Given the description of an element on the screen output the (x, y) to click on. 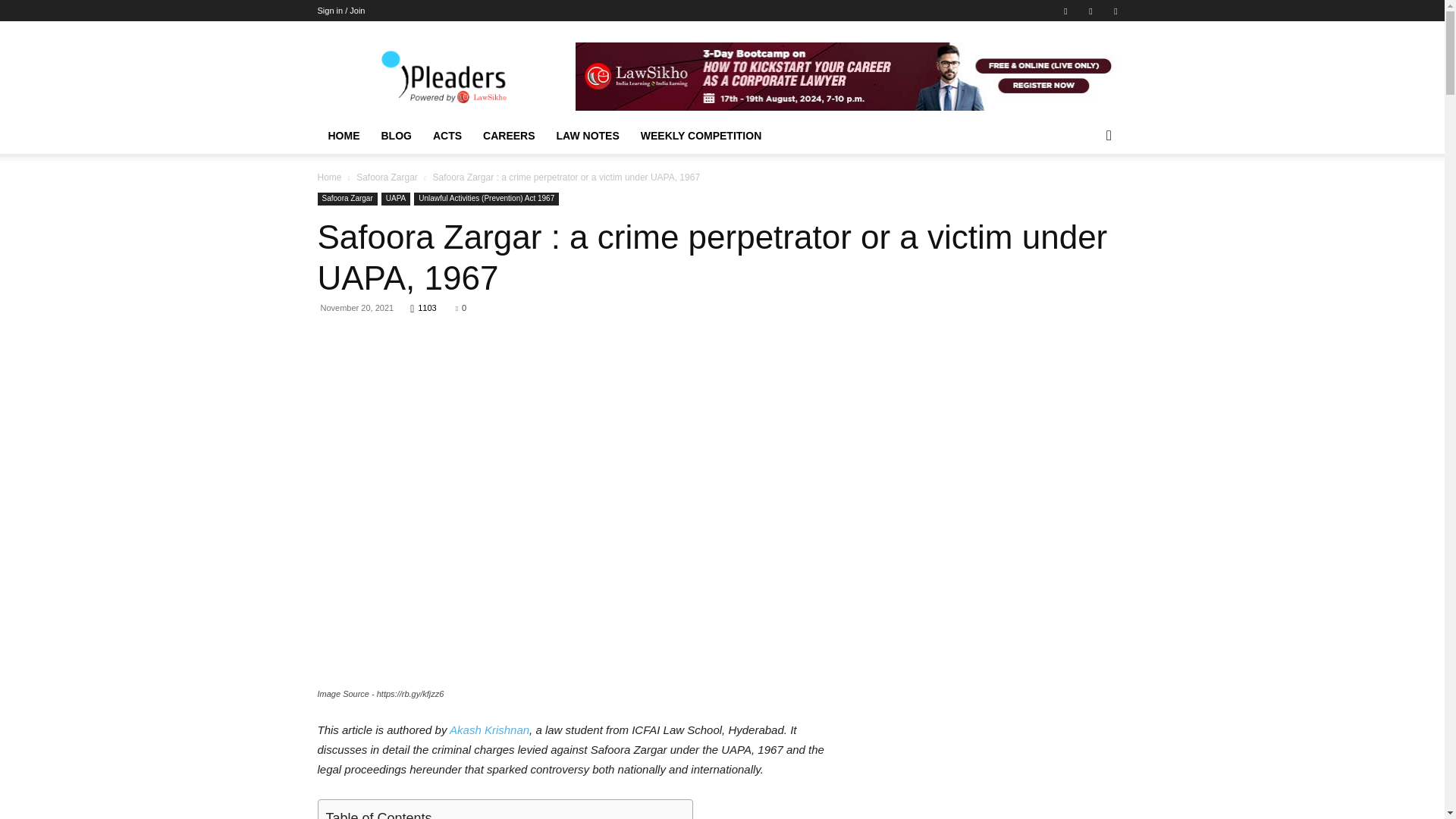
RSS (1090, 10)
Facebook (1065, 10)
Twitter (1114, 10)
View all posts in Safoora Zargar (386, 176)
